Given the description of an element on the screen output the (x, y) to click on. 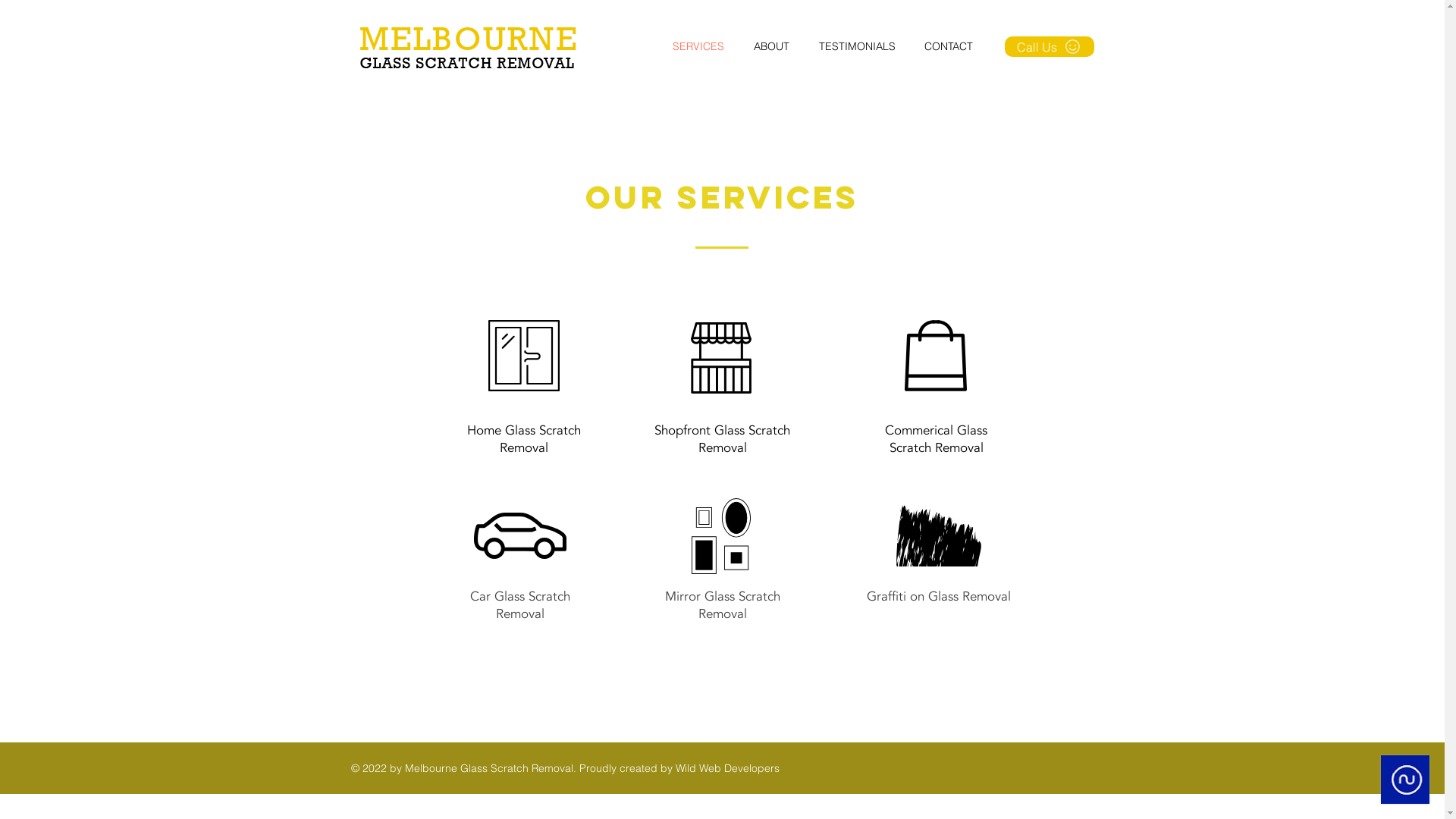
Shopfront Glass Scratch Removal Element type: text (722, 438)
ABOUT Element type: text (778, 46)
Home Glass Scratch Removal Element type: text (523, 438)
Commerical Glass Scratch Removal Element type: text (935, 438)
TESTIMONIALS Element type: text (863, 46)
CONTACT Element type: text (954, 46)
Call Us Element type: text (1048, 46)
Mirror Glass Scratch Removal Element type: text (721, 604)
SERVICES Element type: text (704, 46)
Graffiti on Glass Removal Element type: text (938, 596)
Car Glass Scratch Removal Element type: text (520, 604)
